Given the description of an element on the screen output the (x, y) to click on. 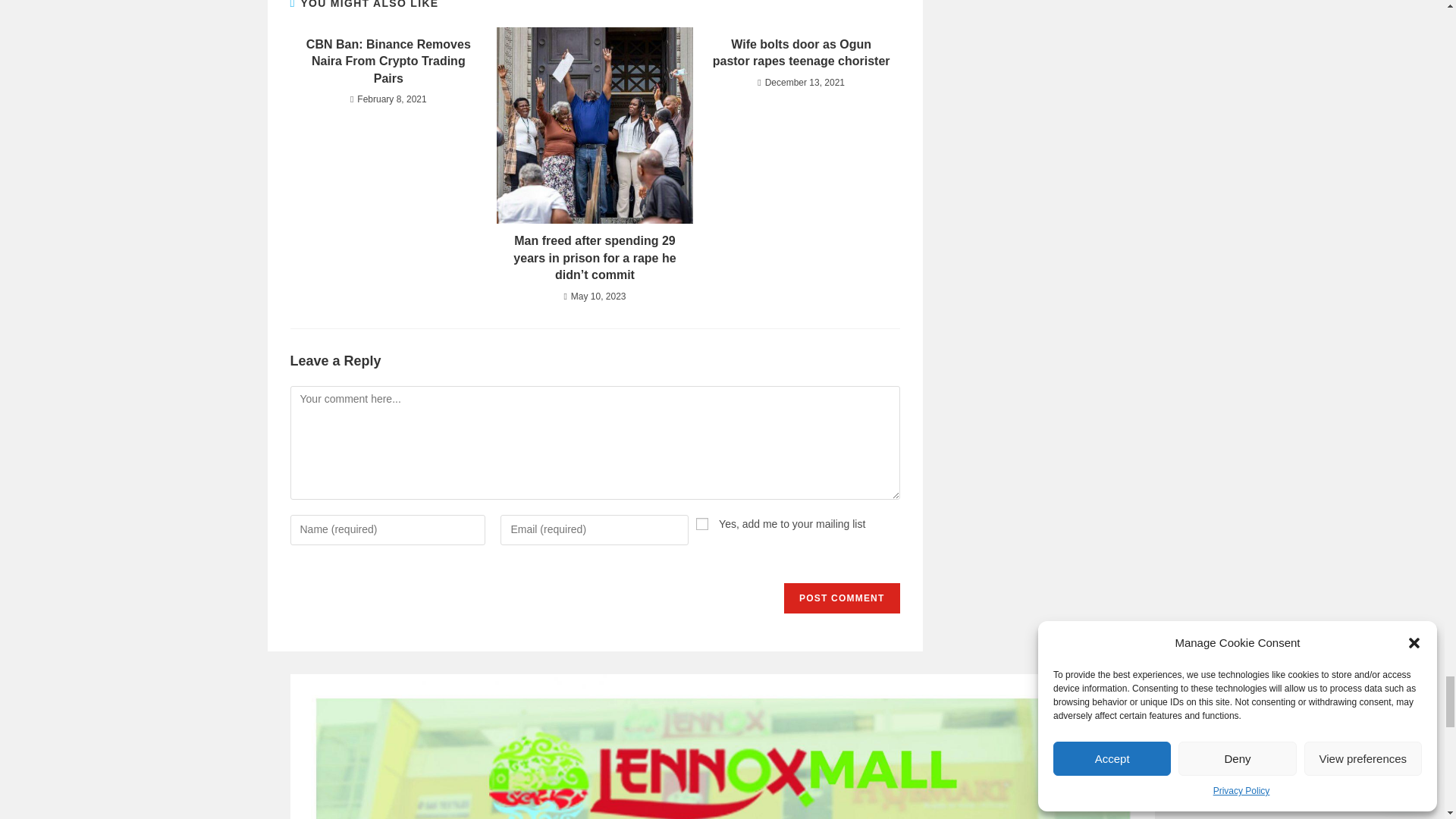
Post Comment (841, 598)
1 (701, 523)
